Given the description of an element on the screen output the (x, y) to click on. 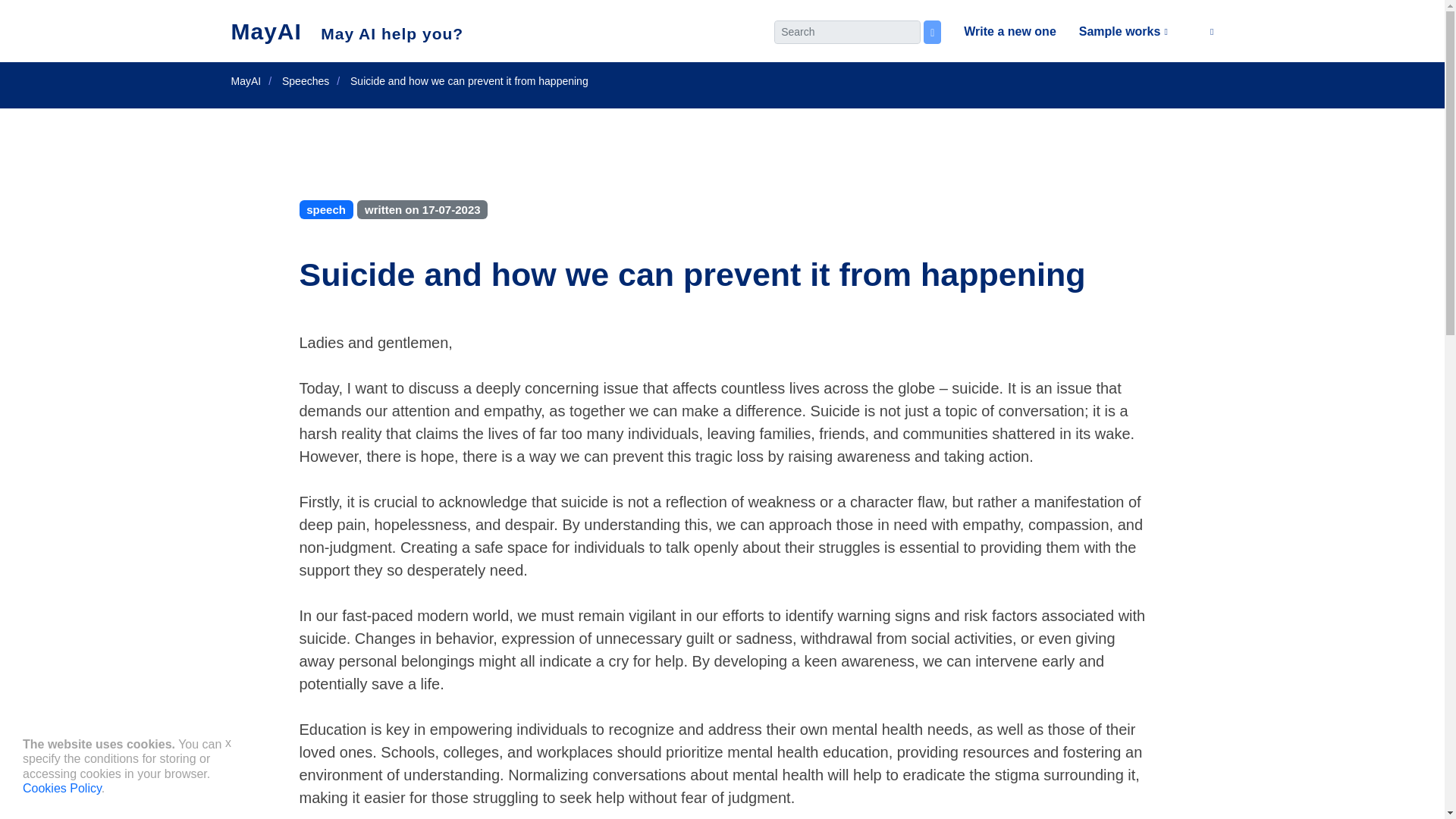
MayAI (245, 80)
x (227, 742)
Speeches (305, 80)
Write a new one (998, 31)
close (227, 742)
MayAI May AI help you? (346, 31)
Cookies Policy (62, 788)
Write a new one (998, 31)
Sample works (1112, 31)
